Given the description of an element on the screen output the (x, y) to click on. 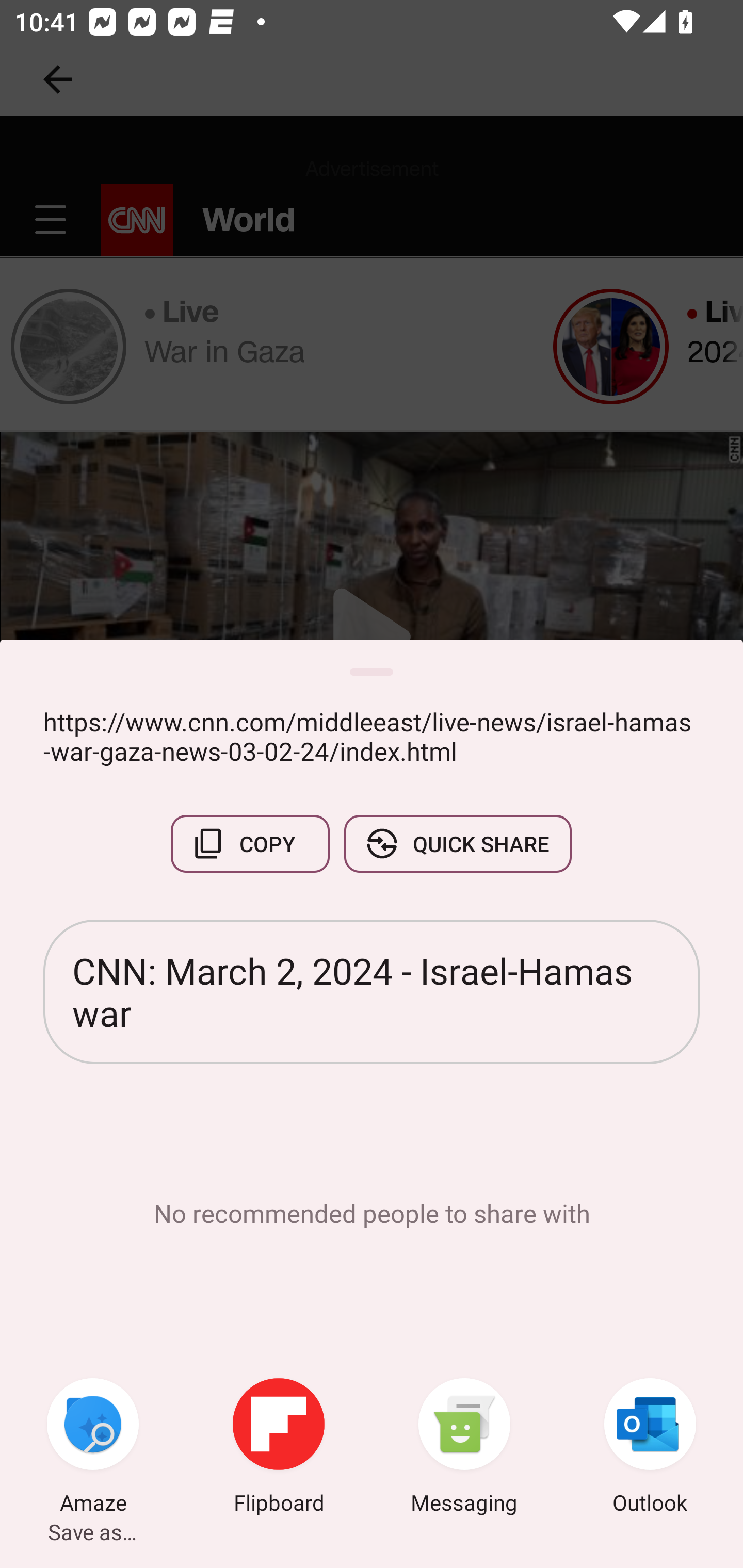
COPY (249, 844)
QUICK SHARE (457, 844)
Amaze Save as… (92, 1448)
Flipboard (278, 1448)
Messaging (464, 1448)
Outlook (650, 1448)
